Given the description of an element on the screen output the (x, y) to click on. 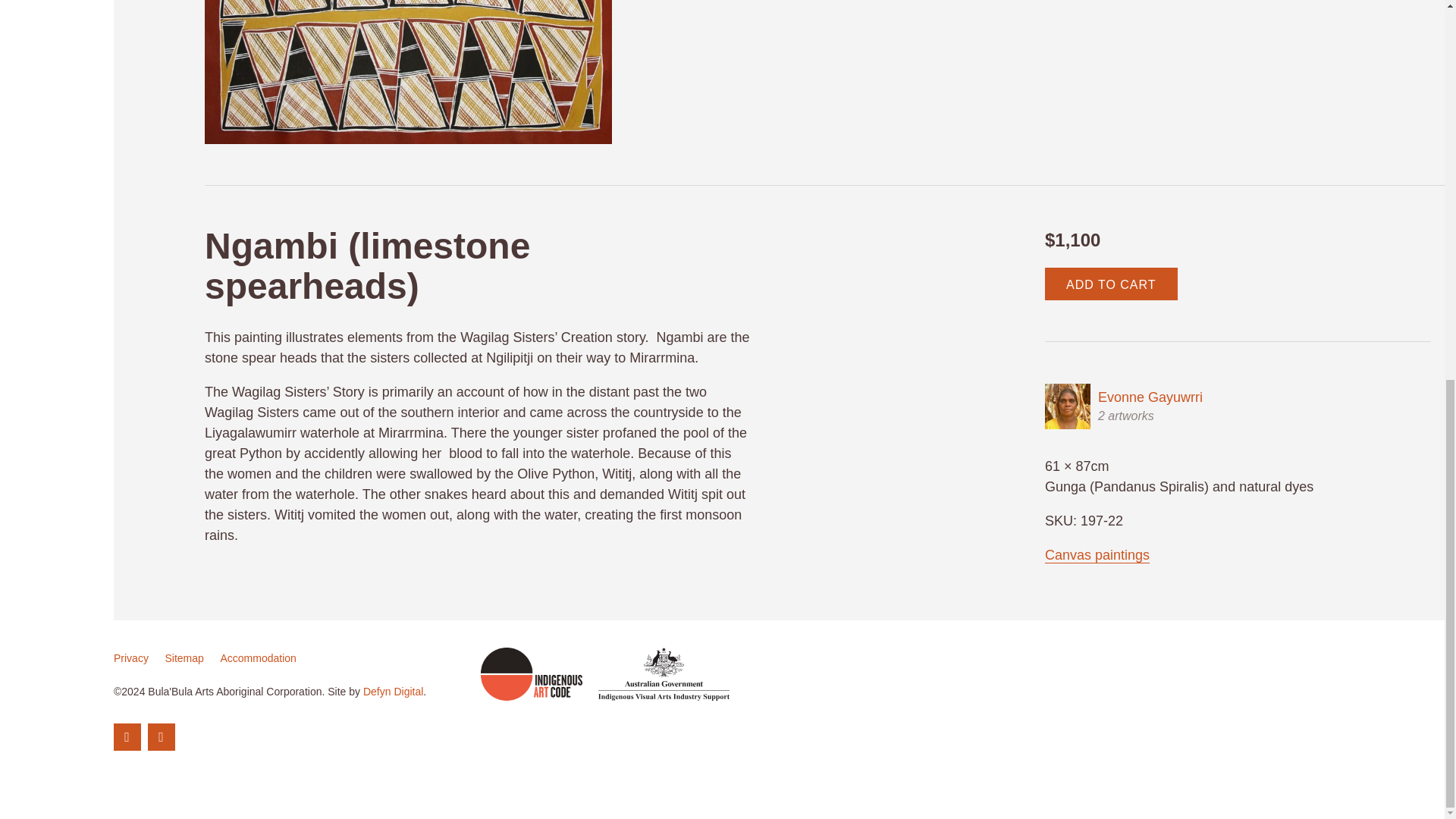
Accommodation (257, 657)
Follow us on Facebook (127, 736)
Sitemap (183, 657)
Canvas paintings (1097, 555)
add to cart (1111, 283)
Privacy (130, 657)
add to cart (1111, 283)
Defyn Digital (392, 691)
Follow us on Instagram (161, 736)
Evonne Gayuwrri (1123, 406)
